Given the description of an element on the screen output the (x, y) to click on. 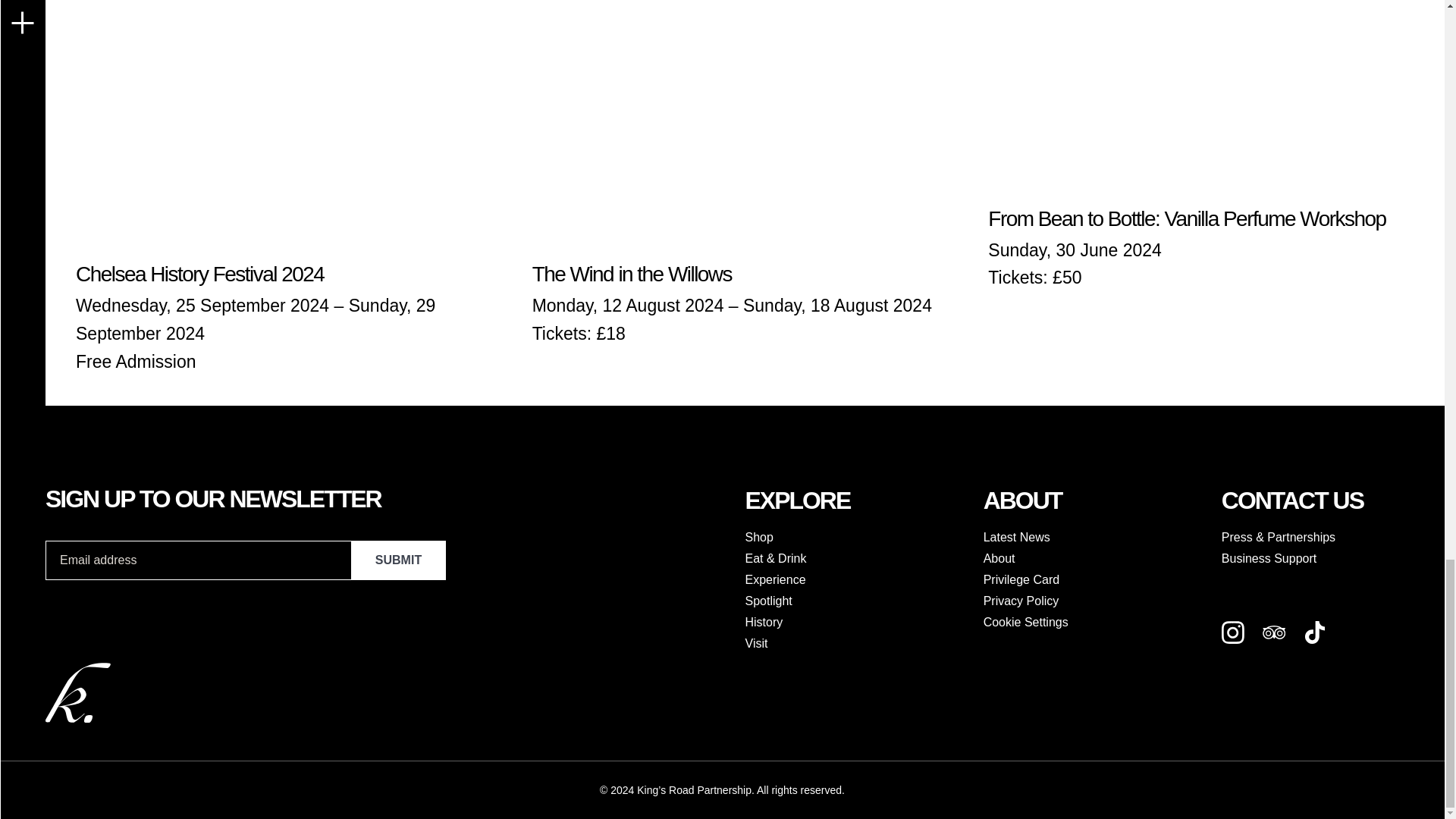
Experience (856, 579)
Shop (856, 537)
Latest News (1095, 537)
Spotlight (856, 600)
History (856, 622)
SUBMIT (397, 559)
About (1095, 558)
Visit (856, 643)
